Given the description of an element on the screen output the (x, y) to click on. 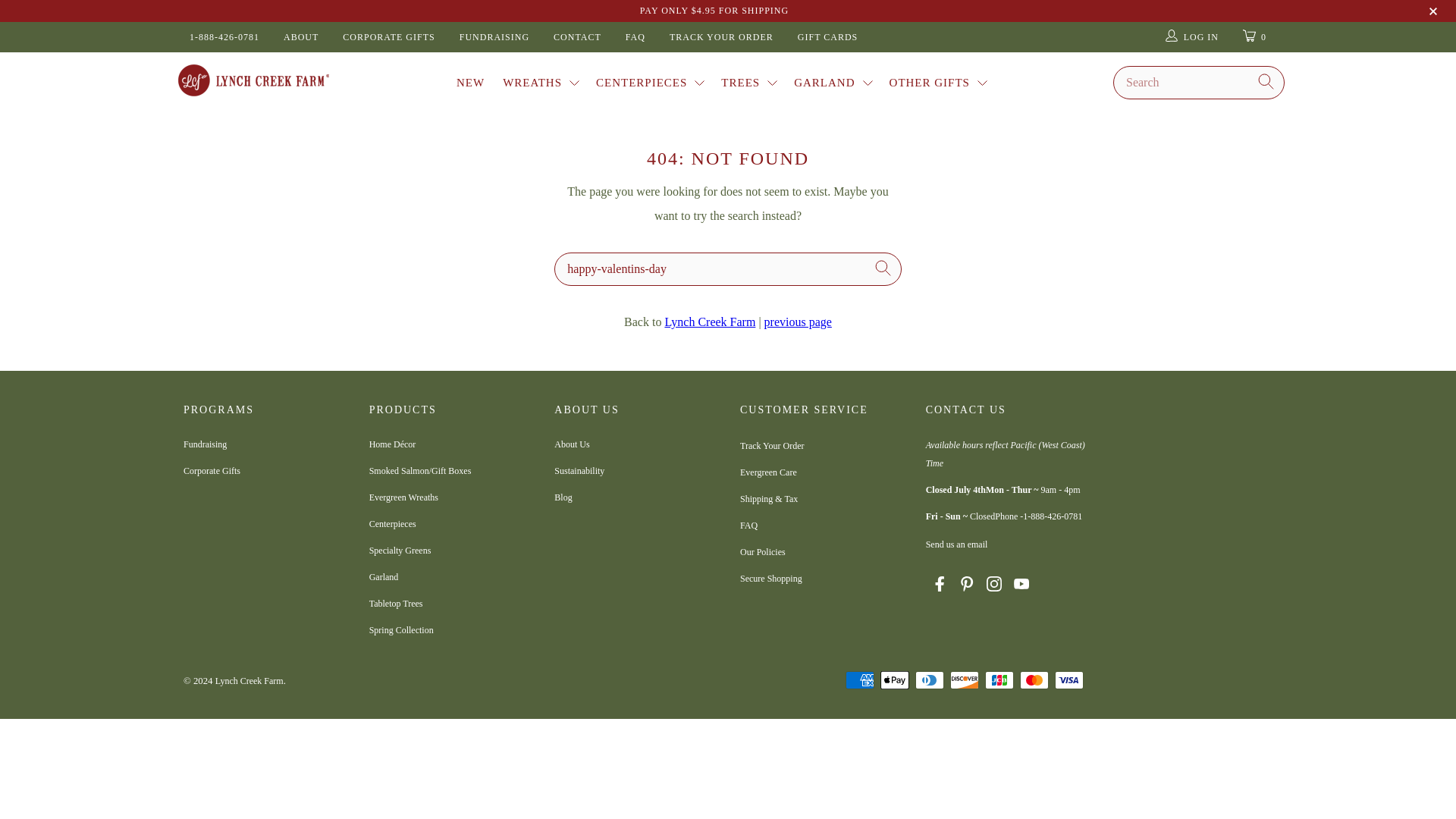
FUNDRAISING (493, 37)
NEW (470, 82)
Visa (1068, 679)
CONTACT (577, 37)
Lynch Creek Farm on Instagram (994, 585)
American Express (860, 679)
CENTERPIECES (652, 82)
LOG IN (1191, 37)
Diners Club (929, 679)
tel:18884260781 (1052, 516)
1-888-426-0781 (223, 37)
JCB (999, 679)
Lynch Creek Farm on Pinterest (966, 585)
OTHER GIFTS (940, 82)
Discover (964, 679)
